Given the description of an element on the screen output the (x, y) to click on. 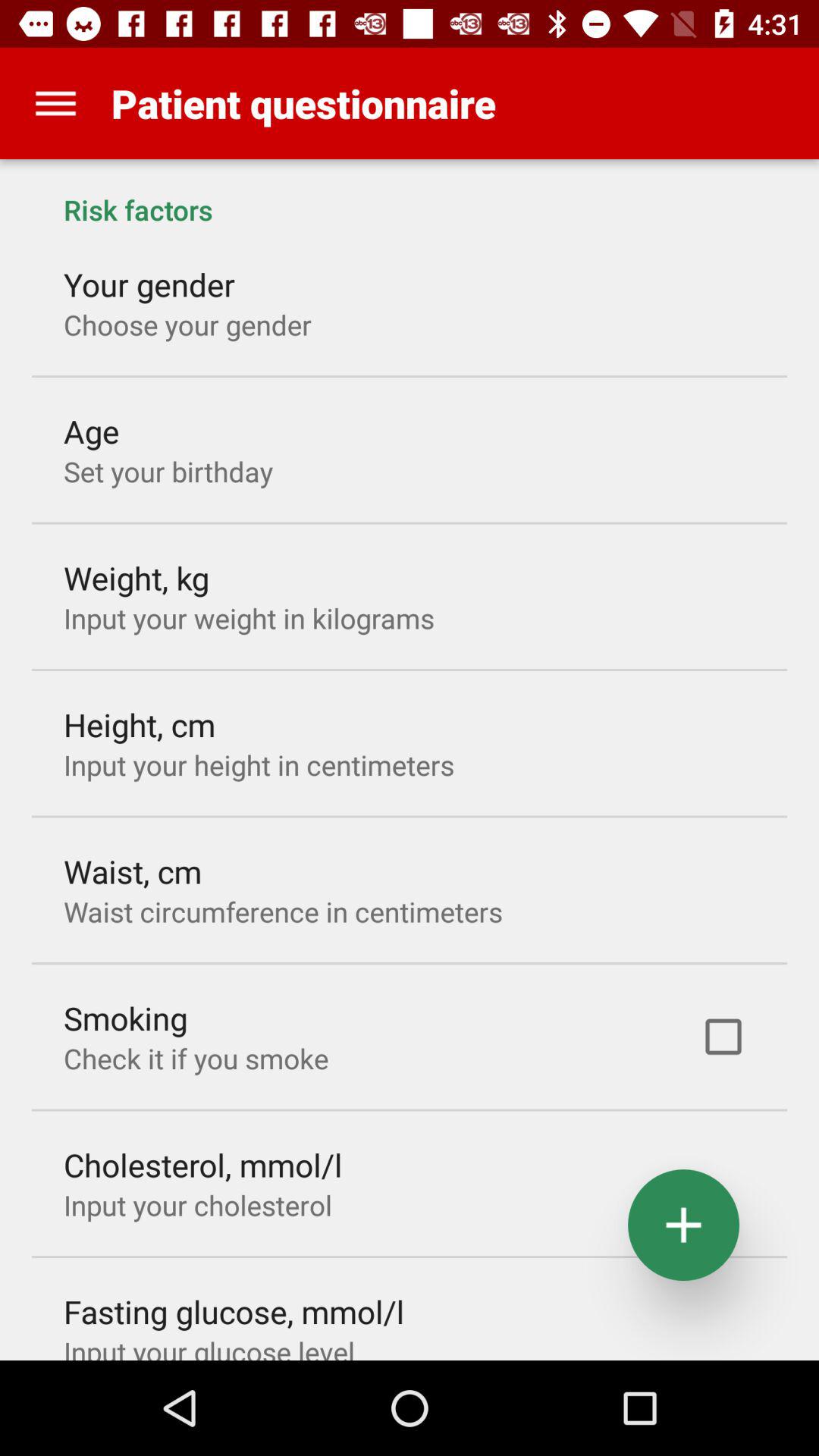
select weight, kg icon (136, 577)
